Given the description of an element on the screen output the (x, y) to click on. 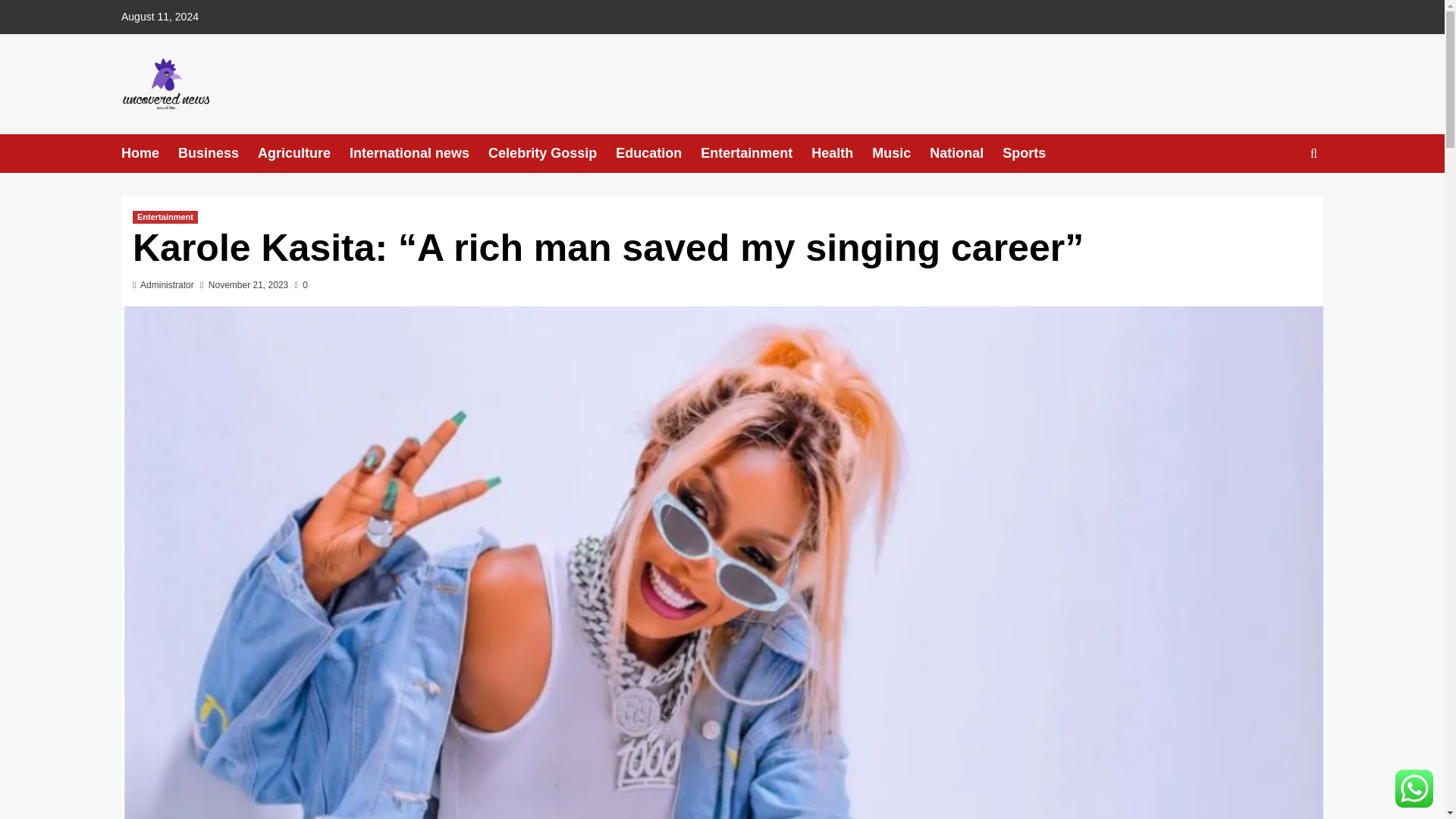
0 (301, 285)
Entertainment (755, 153)
Music (901, 153)
November 21, 2023 (248, 285)
Sports (1033, 153)
International news (418, 153)
Health (841, 153)
Search (1278, 200)
Celebrity Gossip (551, 153)
National (966, 153)
